Given the description of an element on the screen output the (x, y) to click on. 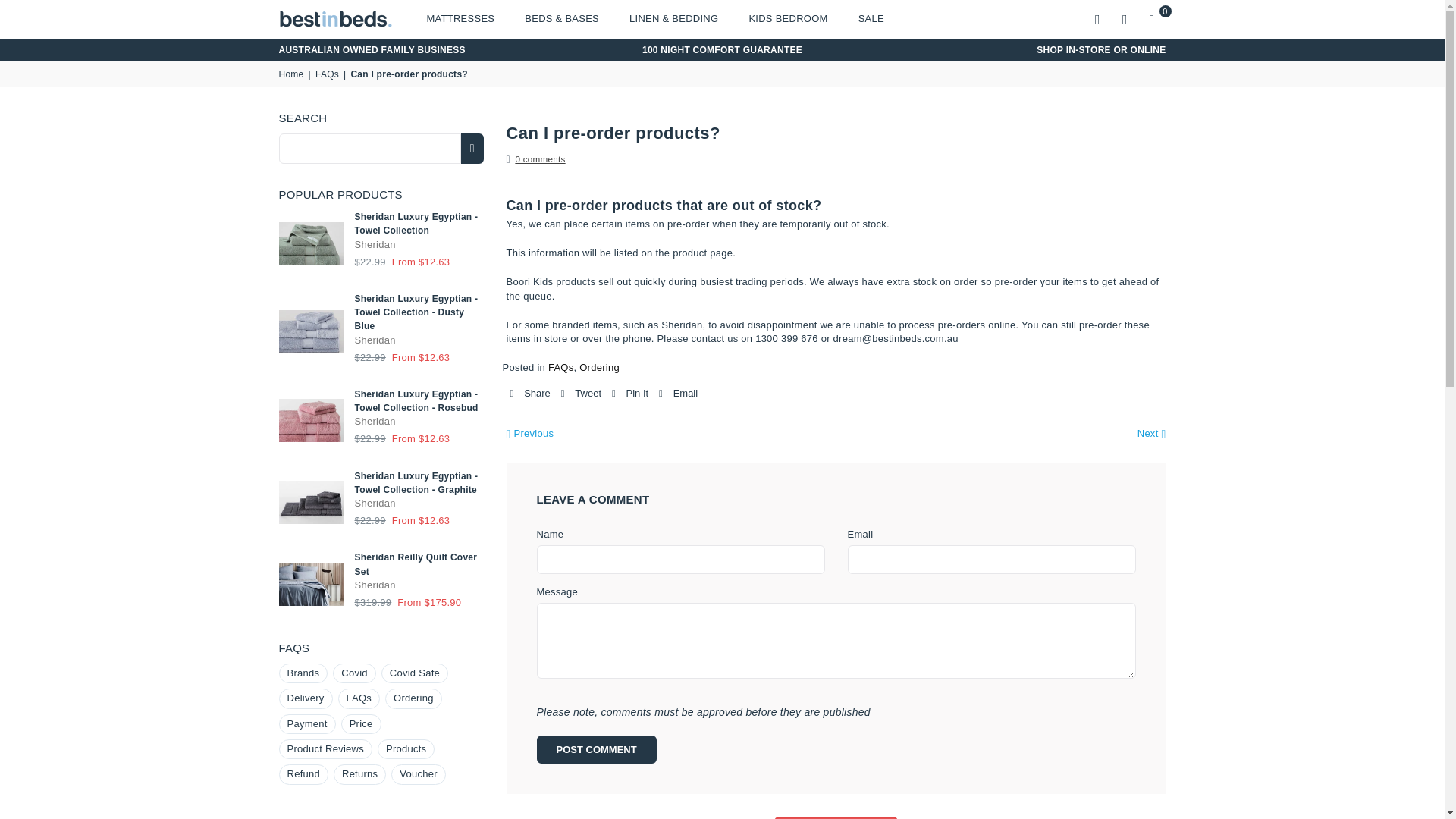
Cart (1152, 18)
Show articles tagged Ordering (413, 698)
Share by Email (678, 392)
Tweet on Twitter (580, 392)
Share on Facebook (529, 392)
Show articles tagged Covid Safe (414, 673)
Show articles tagged FAQs (358, 698)
Post comment (596, 749)
Search (1098, 18)
Pin on Pinterest (629, 392)
